Given the description of an element on the screen output the (x, y) to click on. 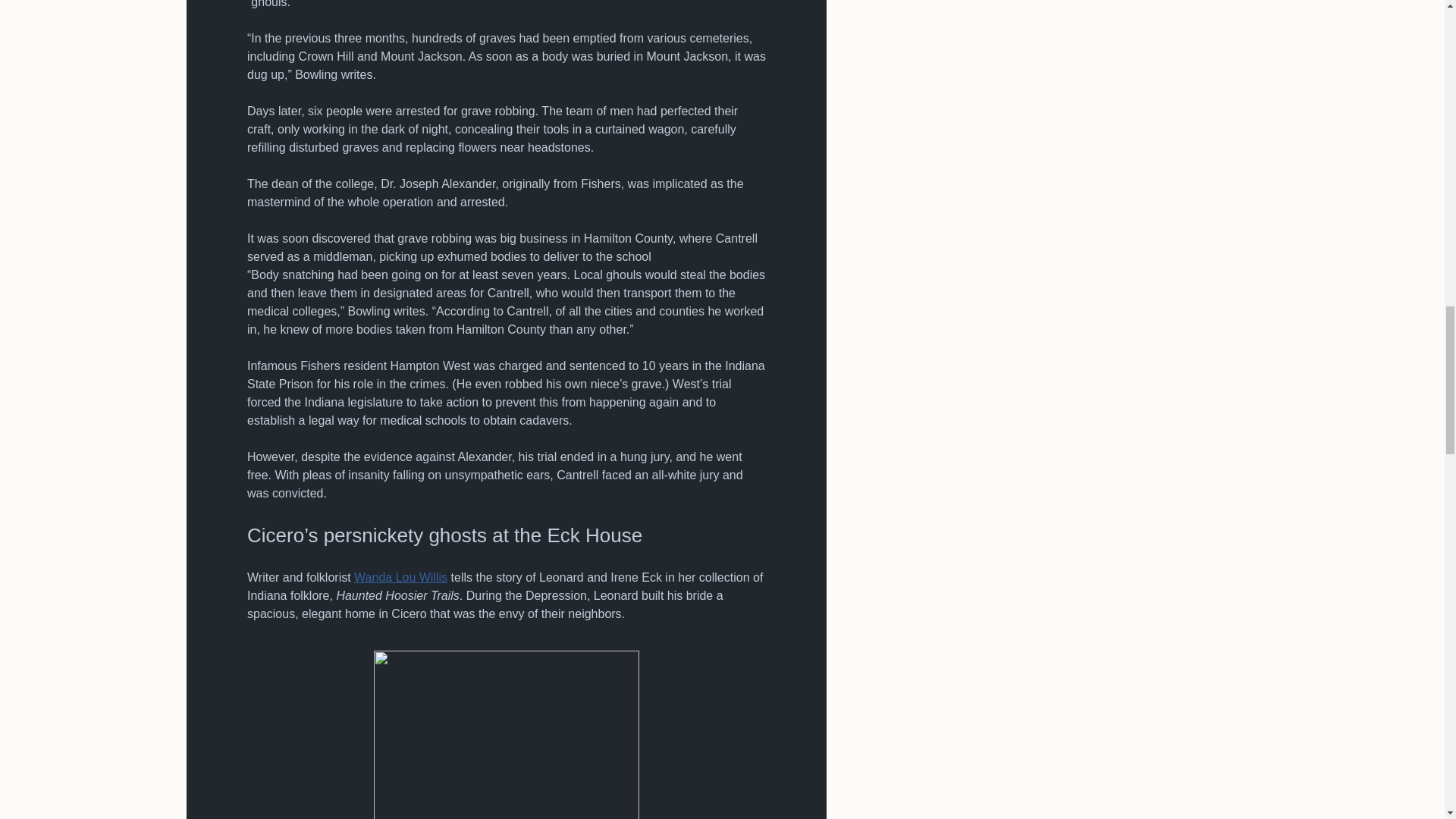
Wanda Lou Willis (399, 576)
